Given the description of an element on the screen output the (x, y) to click on. 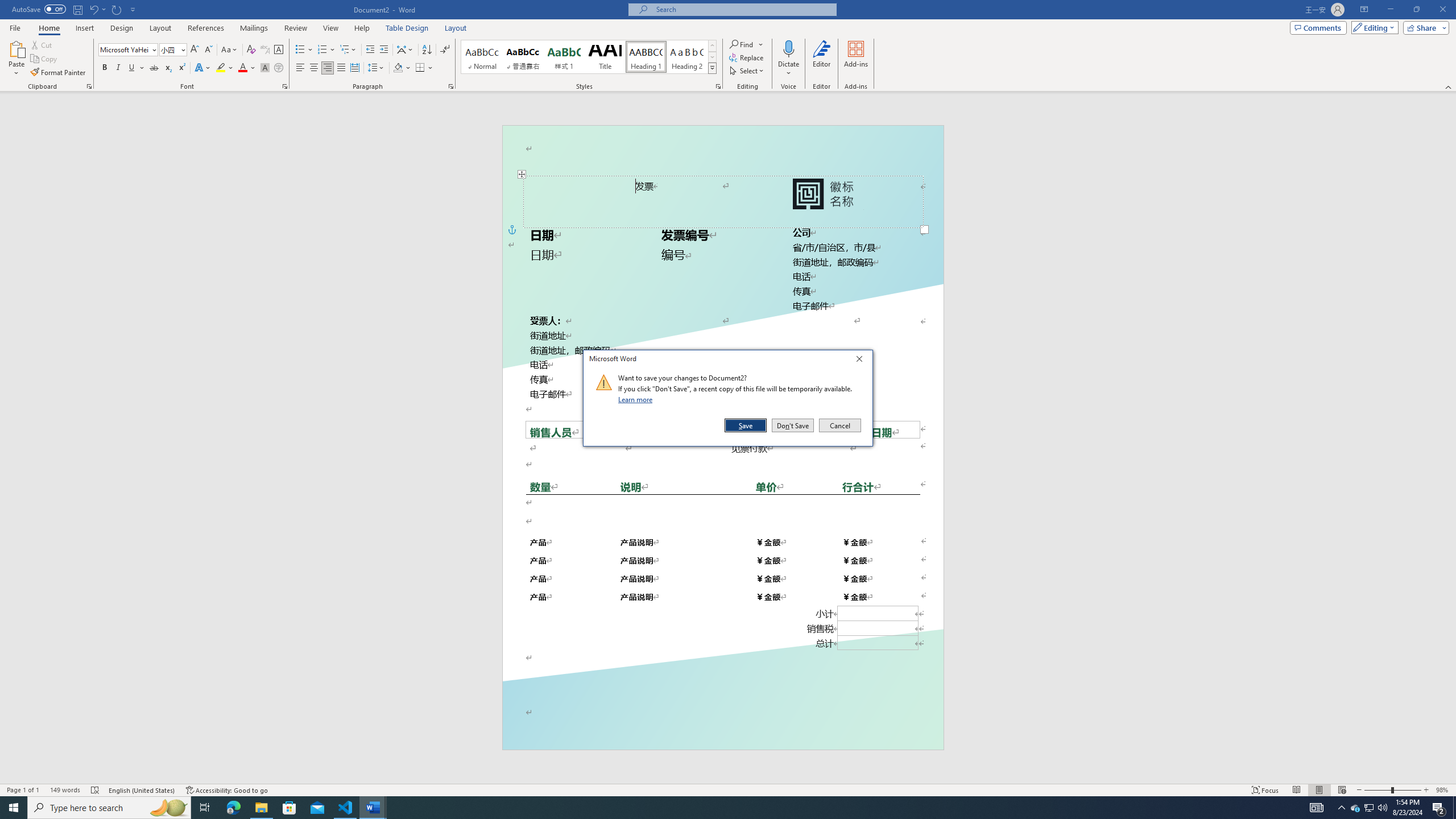
Running applications (717, 807)
First Page Footer -Section 1- (722, 723)
Don't Save (792, 425)
